Given the description of an element on the screen output the (x, y) to click on. 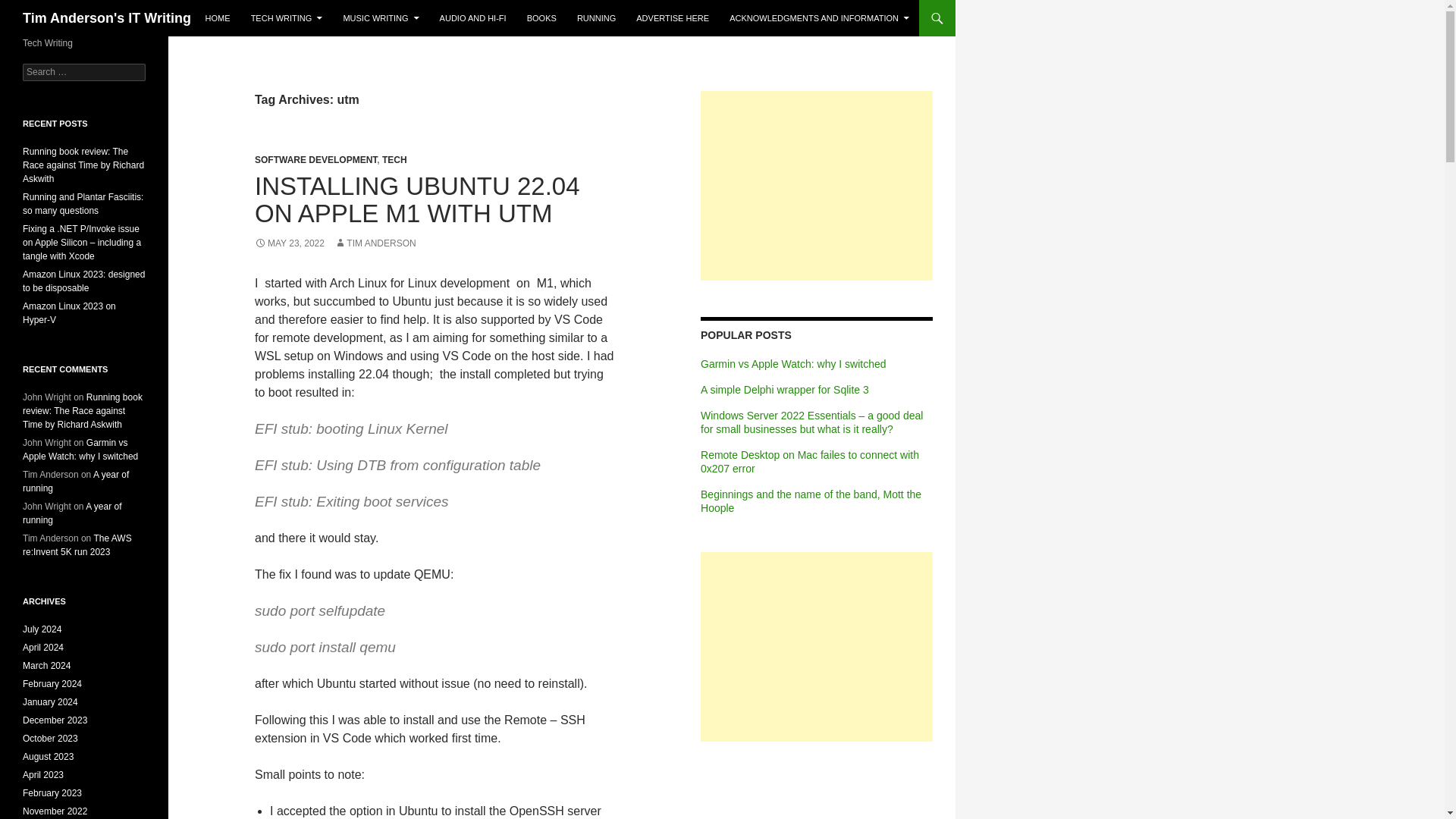
RUNNING (595, 18)
MAY 23, 2022 (289, 243)
AUDIO AND HI-FI (472, 18)
MUSIC WRITING (380, 18)
Garmin vs Apple Watch: why I switched (793, 363)
ACKNOWLEDGMENTS AND INFORMATION (819, 18)
INSTALLING UBUNTU 22.04 ON APPLE M1 WITH UTM (416, 199)
A simple Delphi wrapper for Sqlite 3 (784, 389)
Amazon Linux 2023: designed to be disposable (83, 281)
TECH WRITING (286, 18)
Search (30, 8)
BOOKS (542, 18)
TECH (394, 159)
HOME (218, 18)
Remote Desktop on Mac failes to connect with 0x207 error (809, 461)
